Given the description of an element on the screen output the (x, y) to click on. 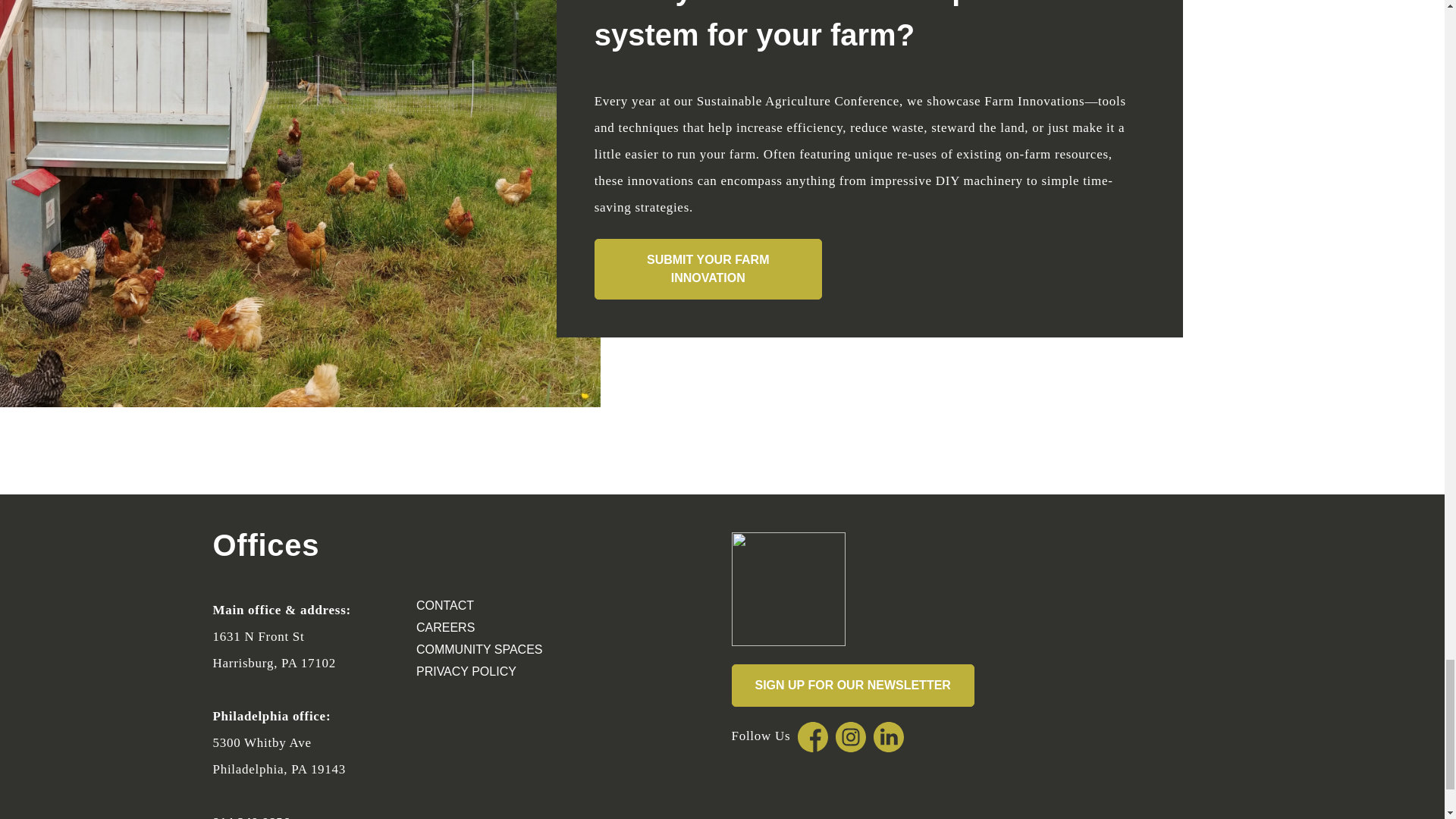
CONTACT (515, 606)
CAREERS (515, 628)
SUBMIT YOUR FARM INNOVATION (708, 269)
